Given the description of an element on the screen output the (x, y) to click on. 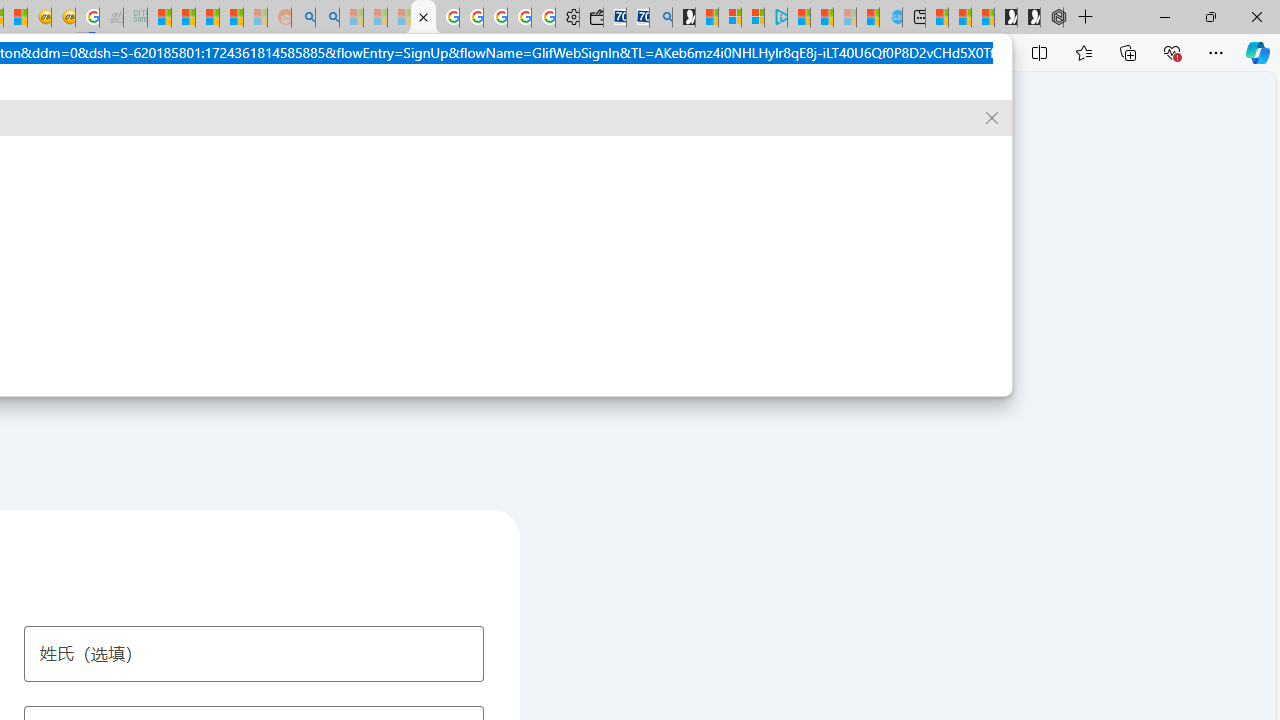
Remove suggestion (991, 117)
